Given the description of an element on the screen output the (x, y) to click on. 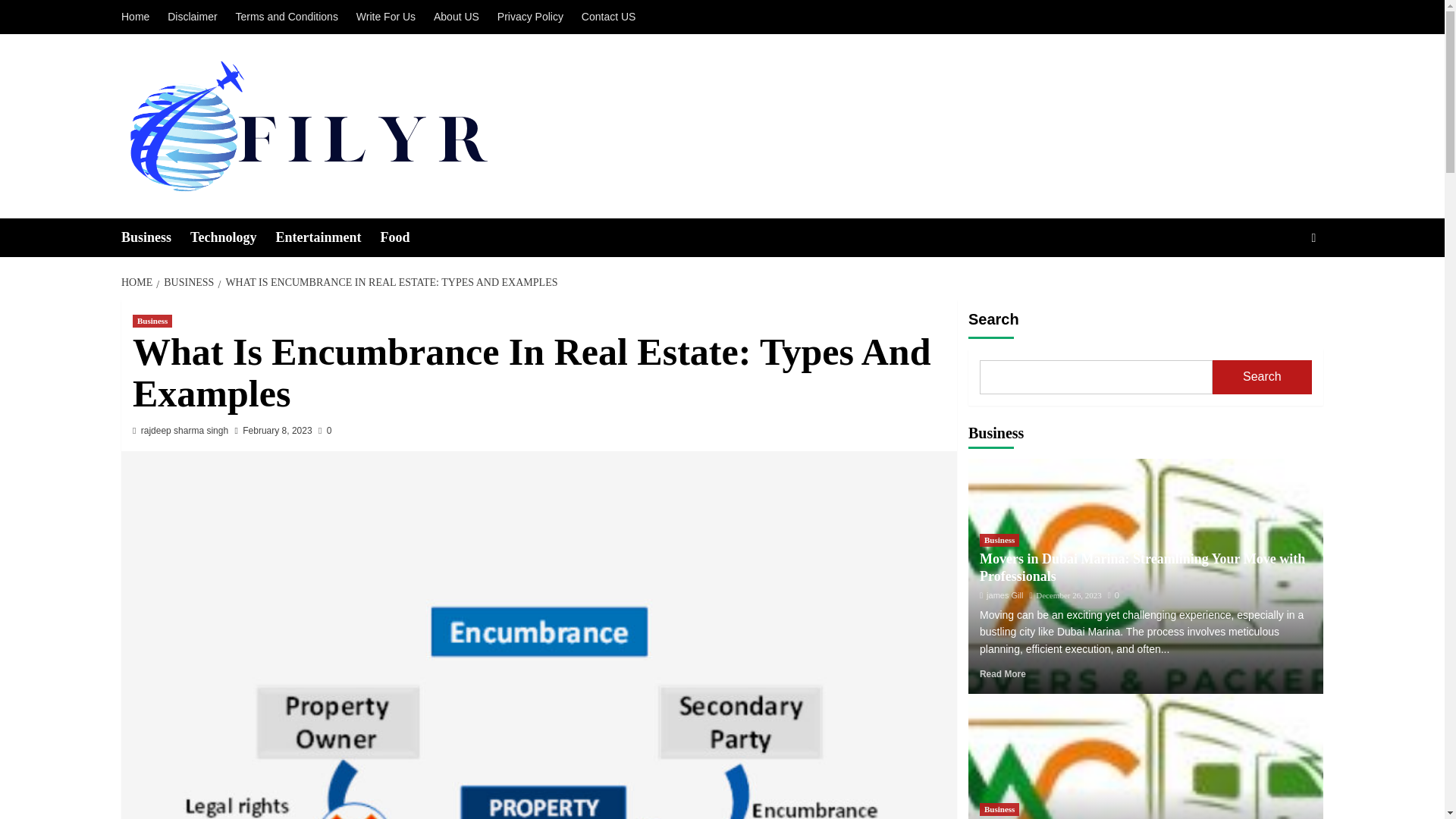
Terms and Conditions (286, 17)
Entertainment (327, 237)
Food (404, 237)
WHAT IS ENCUMBRANCE IN REAL ESTATE: TYPES AND EXAMPLES (388, 282)
February 8, 2023 (277, 430)
Disclaimer (192, 17)
About US (456, 17)
Search (1278, 283)
Write For Us (386, 17)
BUSINESS (185, 282)
Business (151, 320)
rajdeep sharma singh (184, 430)
Business (155, 237)
Technology (232, 237)
0 (324, 430)
